Given the description of an element on the screen output the (x, y) to click on. 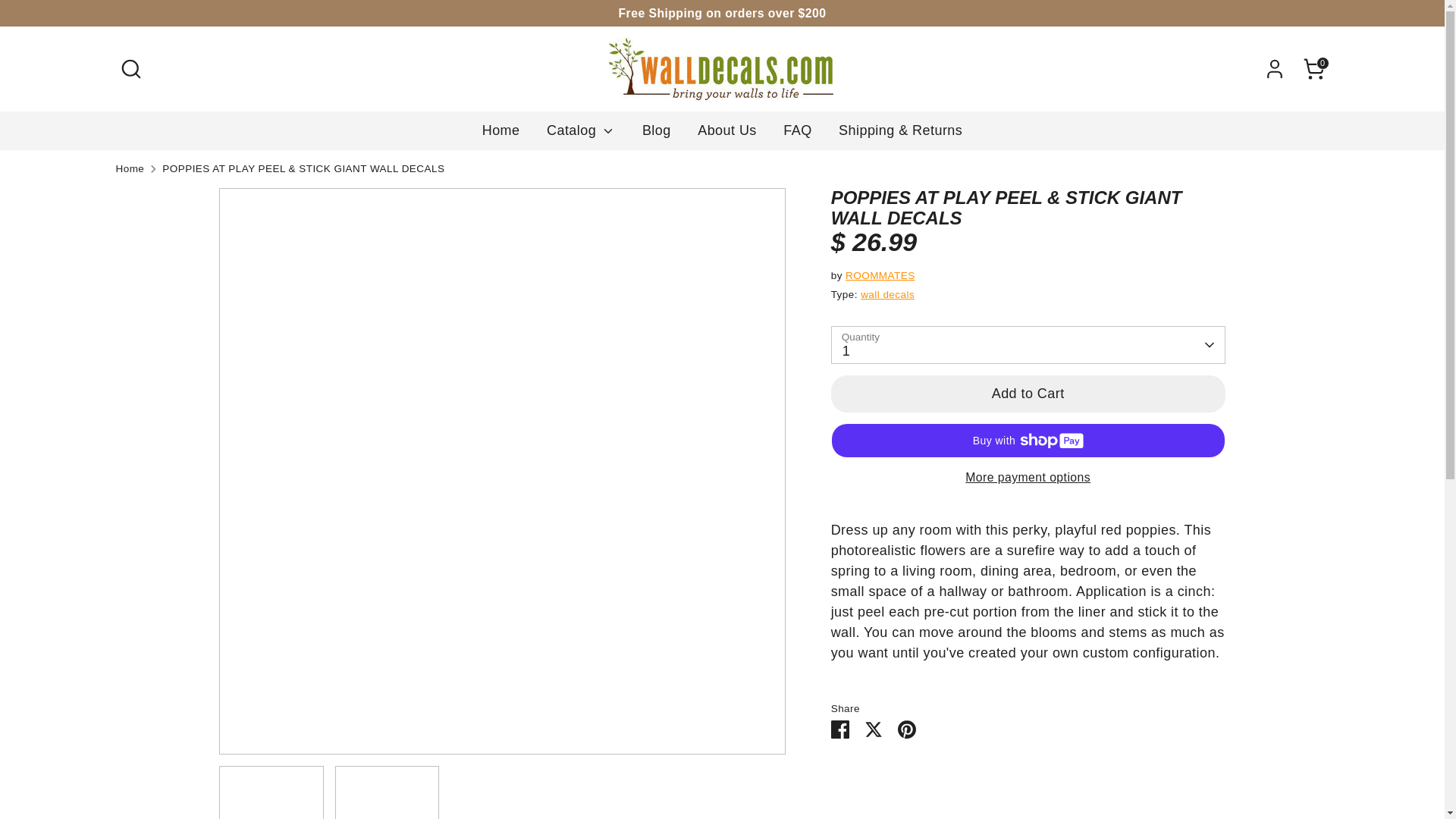
Apple Pay (1130, 769)
Mastercard (1251, 769)
American Express (1100, 769)
Visa (1312, 769)
Search (130, 69)
Meta Pay (1221, 769)
Diners Club (1160, 769)
0 (1312, 69)
Discover (1190, 769)
Shop Pay (1282, 769)
